Given the description of an element on the screen output the (x, y) to click on. 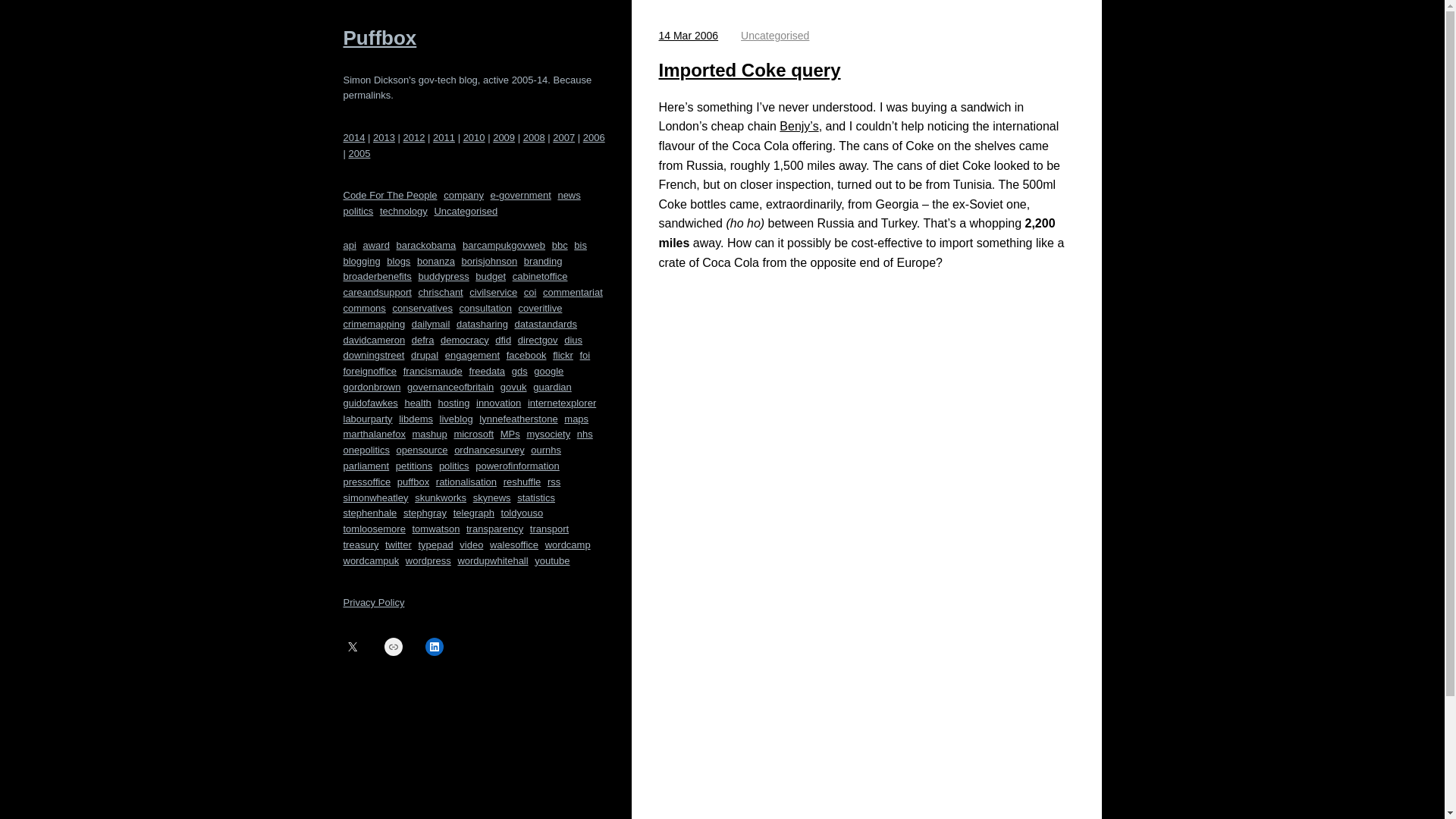
branding (543, 261)
2008 (533, 137)
blogs (398, 261)
2013 (383, 137)
commons (363, 308)
chrischant (440, 293)
politics (357, 211)
2009 (504, 137)
Uncategorised (465, 211)
technology (404, 211)
